Given the description of an element on the screen output the (x, y) to click on. 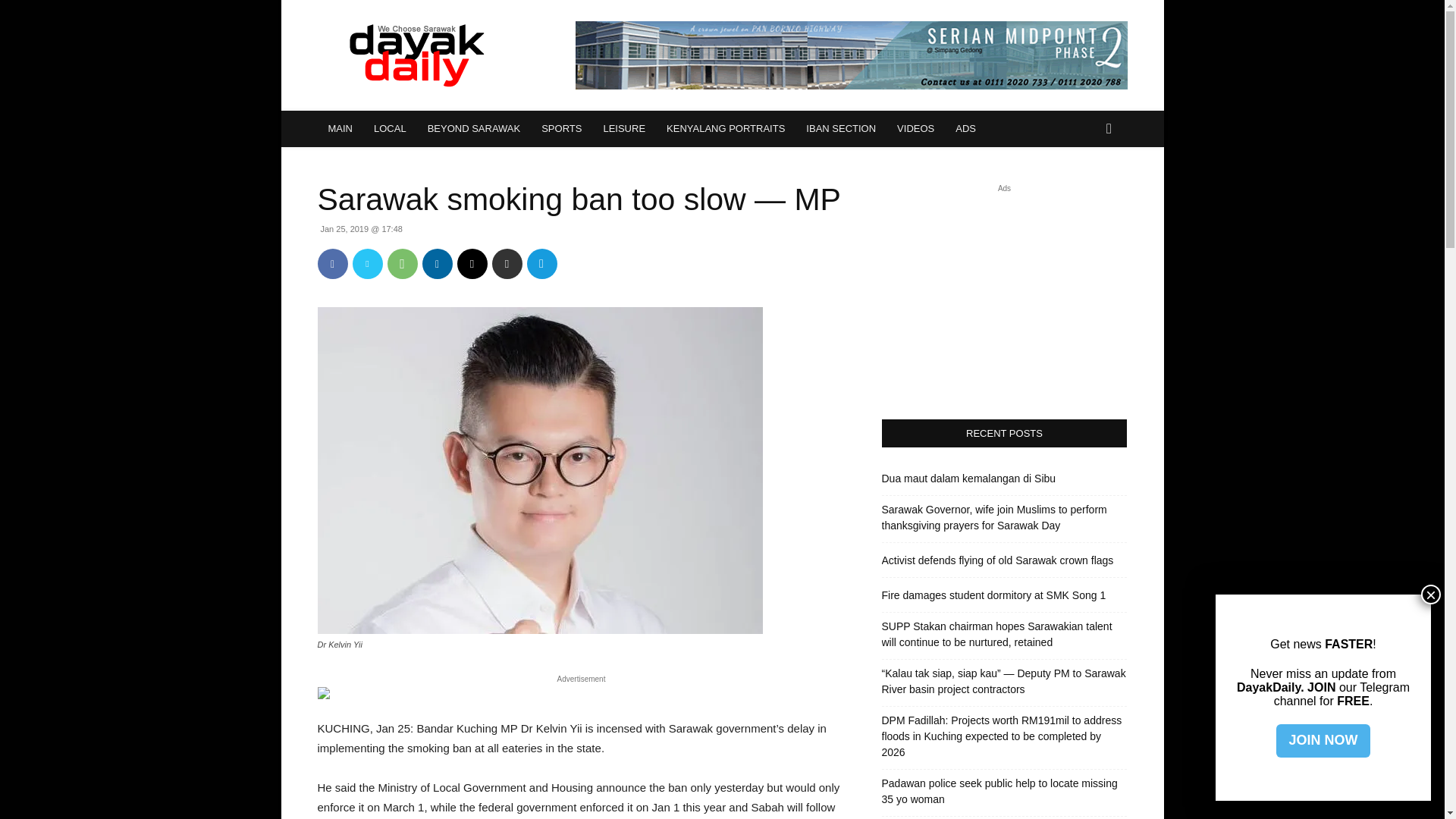
SPORTS (561, 128)
WhatsApp (401, 263)
ADS (965, 128)
Email (471, 263)
Twitter (366, 263)
LOCAL (389, 128)
Facebook (332, 263)
Search (1085, 189)
IBAN SECTION (840, 128)
LEISURE (624, 128)
BEYOND SARAWAK (473, 128)
VIDEOS (915, 128)
Telegram (540, 263)
Print (506, 263)
